Given the description of an element on the screen output the (x, y) to click on. 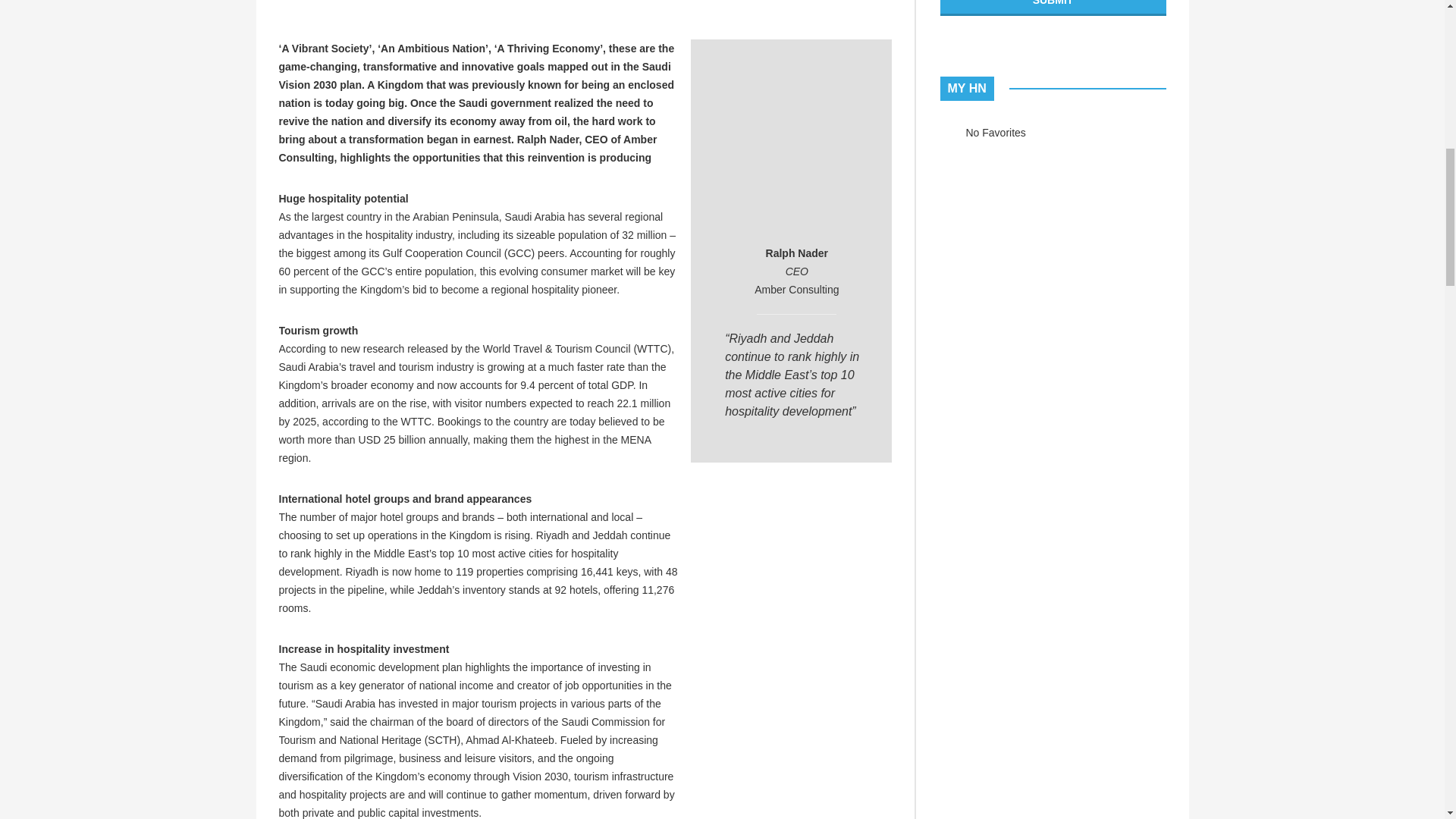
Submit (1053, 7)
